Given the description of an element on the screen output the (x, y) to click on. 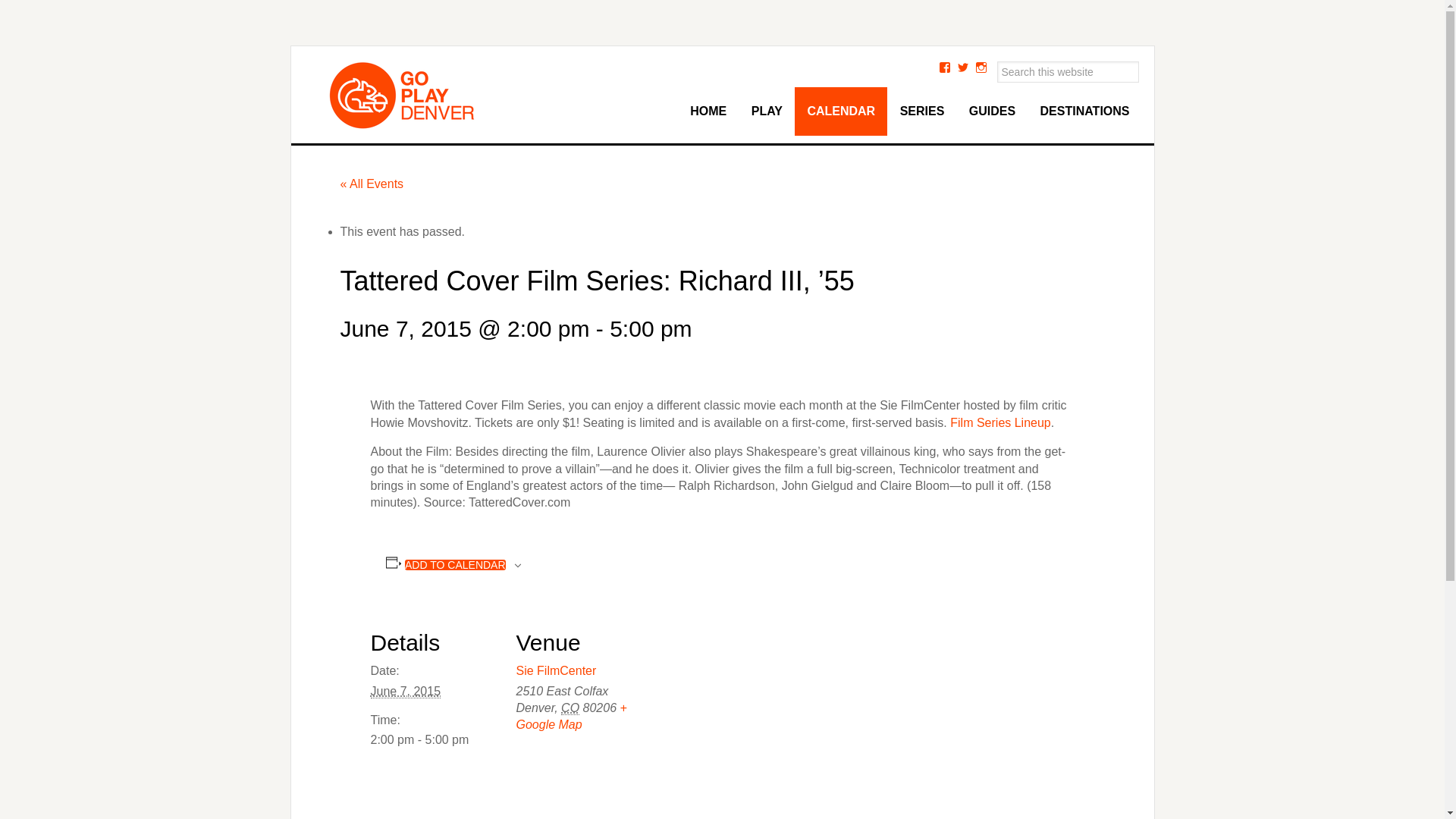
Search (1140, 63)
Sie FilmCenter (555, 670)
2015-06-07 (433, 740)
SERIES (922, 110)
2015-06-07 (405, 691)
Click to view a Google Map (570, 716)
HOME (708, 110)
GO PLAY DENVER (419, 95)
DESTINATIONS (1084, 110)
Search (1140, 63)
Film Series Lineup (1000, 422)
CALENDAR (840, 110)
ADD TO CALENDAR (454, 564)
Tattered Cover Film Series (1000, 422)
Colorado (569, 707)
